Given the description of an element on the screen output the (x, y) to click on. 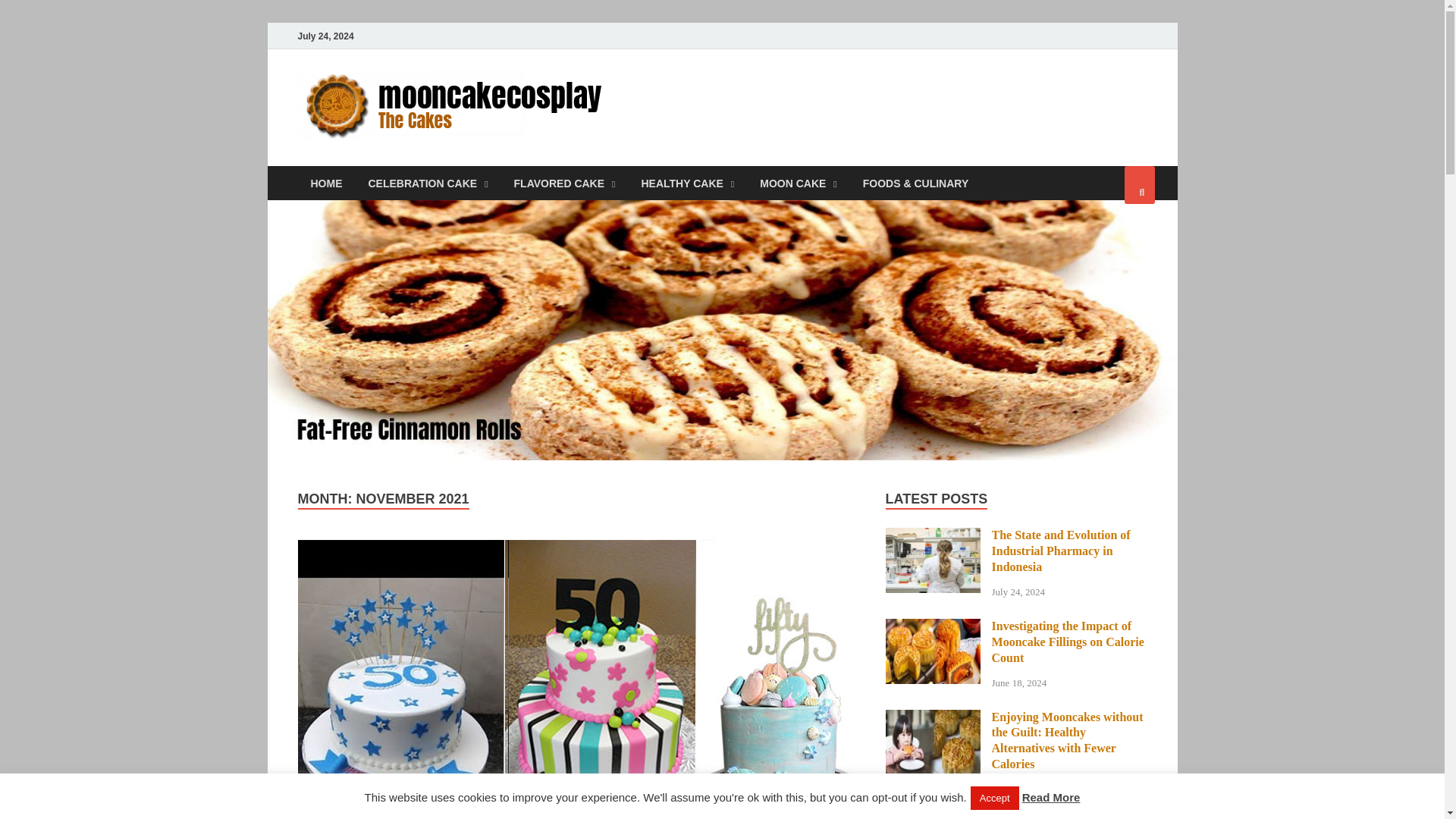
FLAVORED CAKE (564, 182)
The State and Evolution of Industrial Pharmacy in Indonesia (932, 535)
MOON CAKE (798, 182)
CELEBRATION CAKE (427, 182)
HOME (326, 182)
HEALTHY CAKE (686, 182)
